Given the description of an element on the screen output the (x, y) to click on. 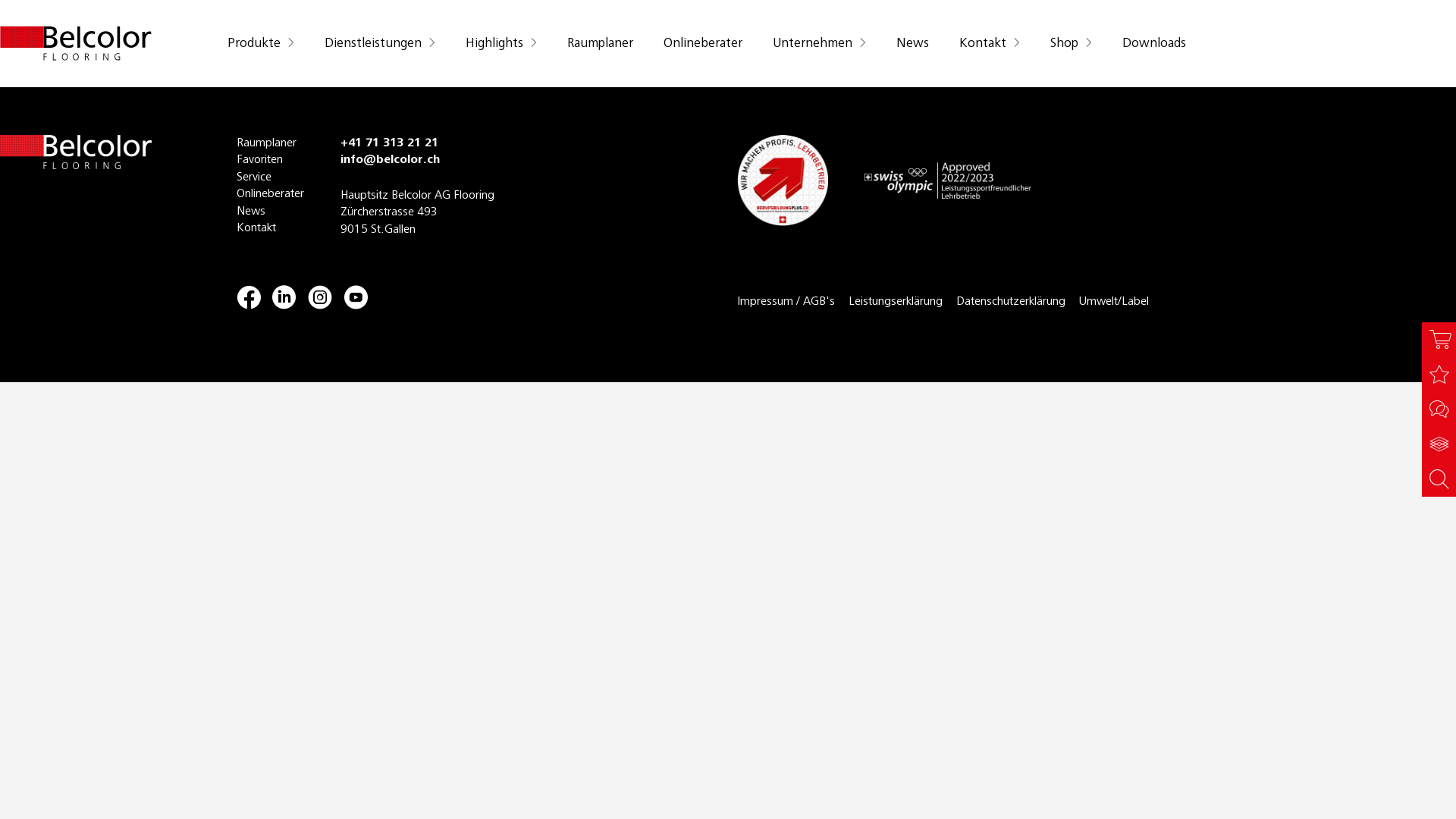
Service Element type: text (270, 177)
News Element type: text (270, 211)
Highlights Element type: text (498, 43)
+41 71 313 21 21 Element type: text (389, 142)
Unternehmen Element type: text (816, 43)
Shop Element type: text (1067, 43)
Favoriten Element type: text (270, 159)
Impressum / AGB's Element type: text (785, 301)
Downloads Element type: text (1155, 43)
Kontakt Element type: text (270, 227)
Onlineberater Element type: text (704, 43)
Raumplaner Element type: text (601, 43)
Dienstleistungen Element type: text (376, 43)
Produkte Element type: text (261, 43)
Raumplaner Element type: text (270, 142)
Onlineberater Element type: text (270, 193)
info@belcolor.ch Element type: text (389, 159)
News Element type: text (914, 43)
Umwelt/Label Element type: text (1113, 301)
Kontakt Element type: text (986, 43)
